Given the description of an element on the screen output the (x, y) to click on. 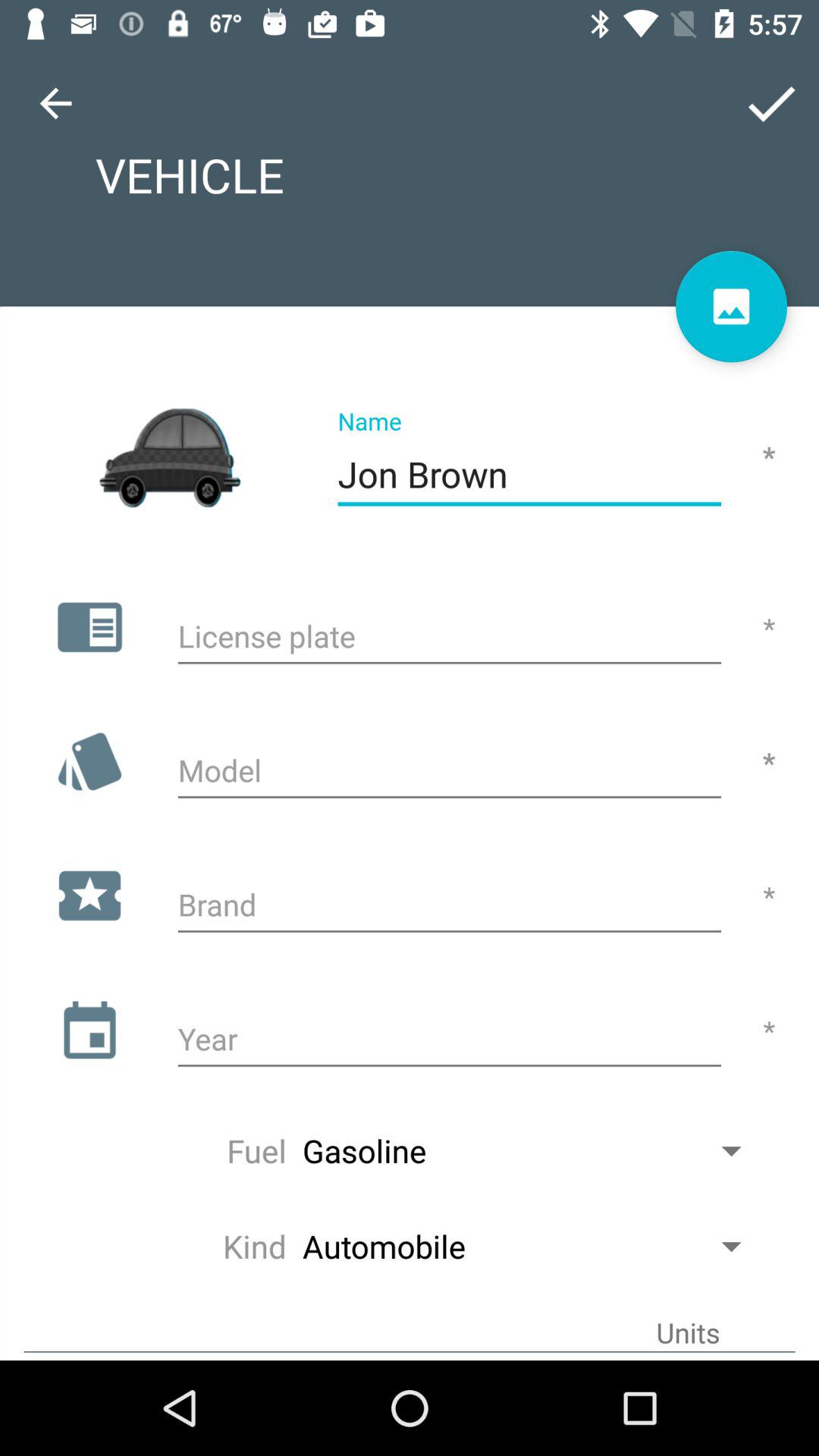
typing box (449, 1041)
